Given the description of an element on the screen output the (x, y) to click on. 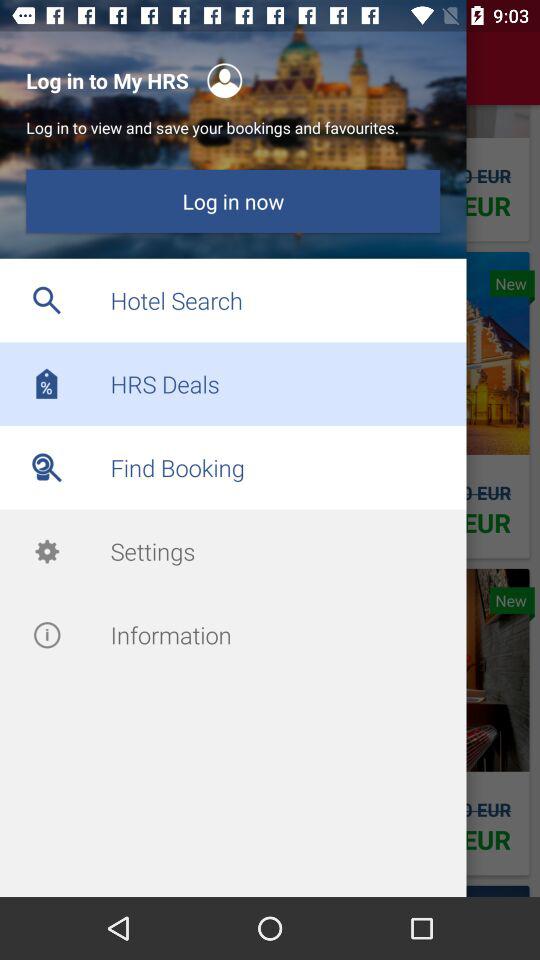
select log in now (232, 201)
tap on the setting icon (46, 551)
